Given the description of an element on the screen output the (x, y) to click on. 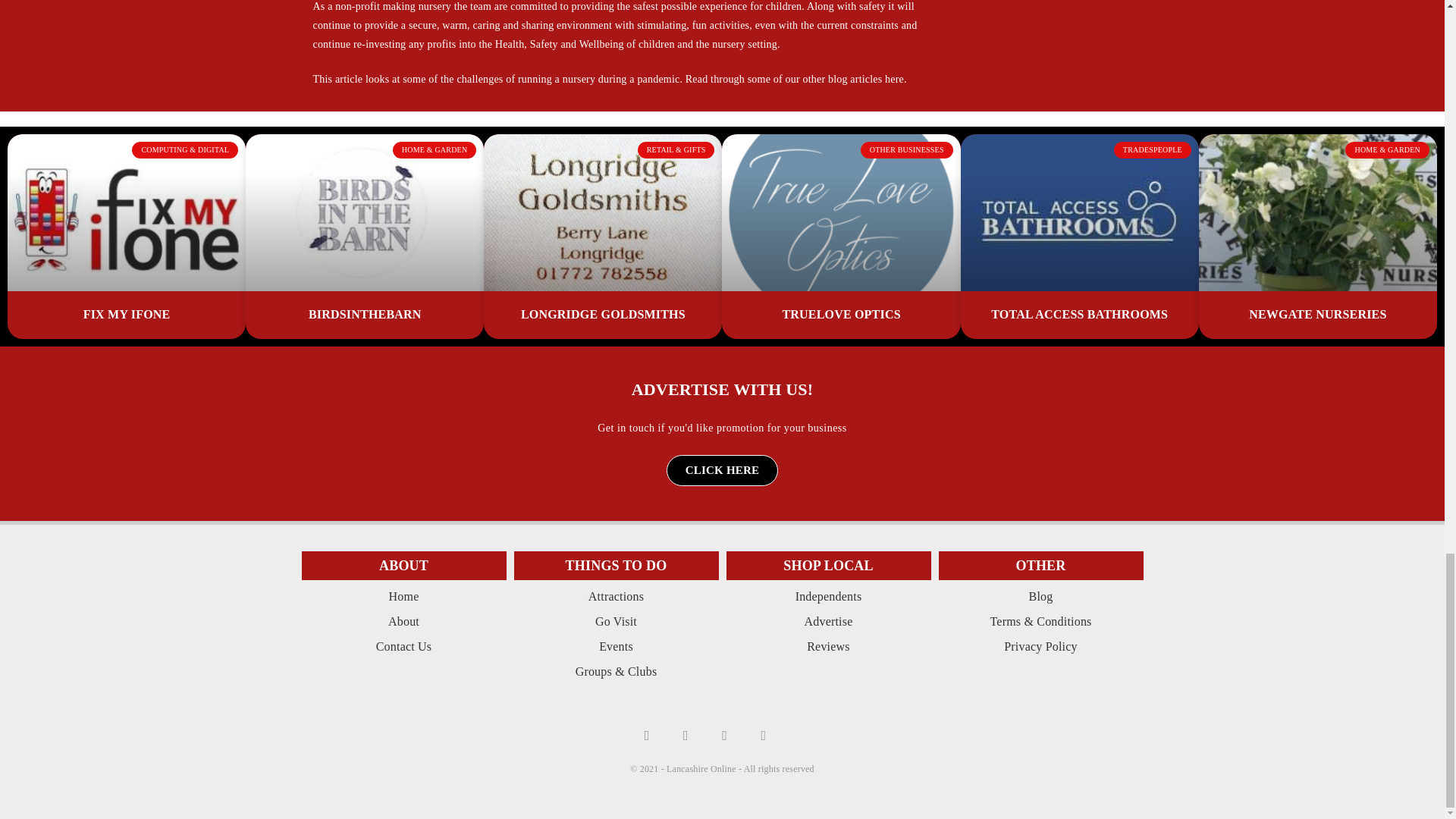
TOTAL ACCESS BATHROOMS (1079, 314)
NEWGATE NURSERIES (1317, 314)
here (894, 79)
BIRDSINTHEBARN (365, 314)
FIX MY IFONE (126, 314)
TRUELOVE OPTICS (840, 314)
LONGRIDGE GOLDSMITHS (603, 314)
